Given the description of an element on the screen output the (x, y) to click on. 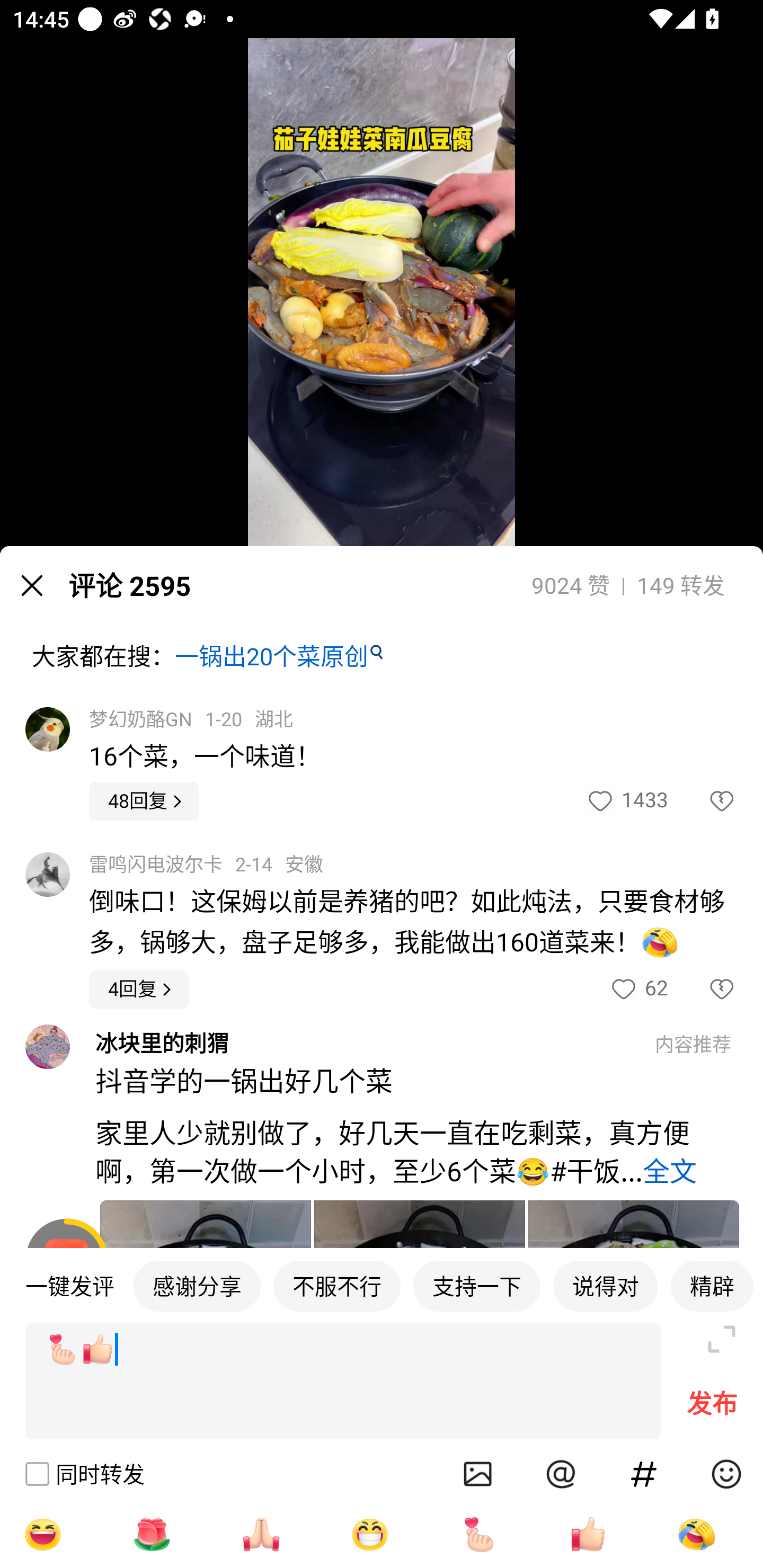
感谢分享 (196, 1285)
不服不行 (336, 1285)
支持一下 (476, 1285)
说得对 (605, 1285)
精辟 (711, 1285)
[比心][赞] (343, 1381)
全屏编辑 (721, 1338)
发布 (711, 1407)
同时转发 (83, 1473)
相册 (478, 1473)
at (560, 1473)
话题 (643, 1473)
表情 (726, 1473)
[大笑] (42, 1534)
[玫瑰] (152, 1534)
[祈祷] (261, 1534)
[呲牙] (369, 1534)
[比心] (478, 1534)
[赞] (588, 1534)
[捂脸] (696, 1534)
